Given the description of an element on the screen output the (x, y) to click on. 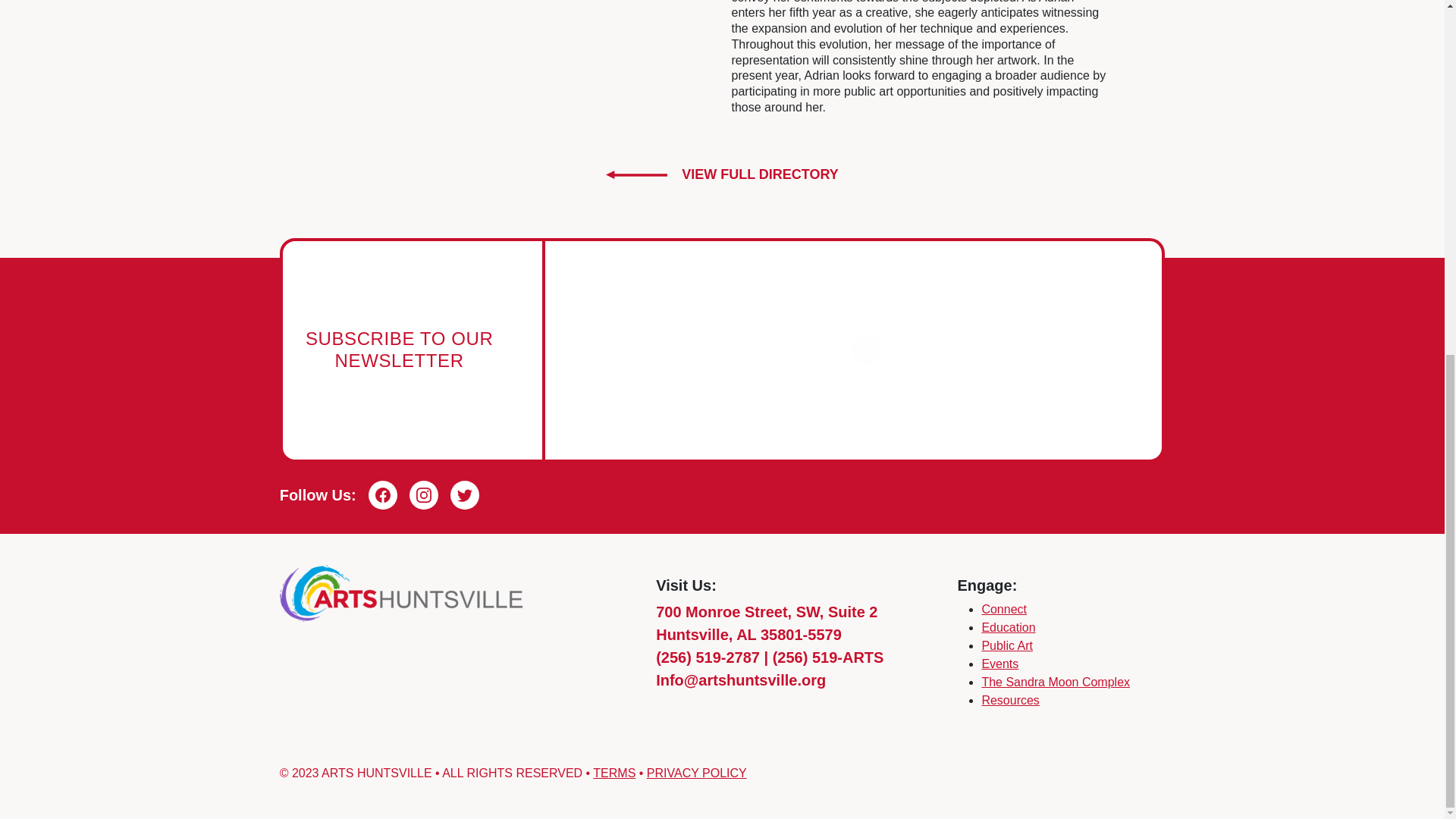
Facebook (382, 494)
VIEW FULL DIRECTORY (721, 174)
Return home (402, 592)
